Given the description of an element on the screen output the (x, y) to click on. 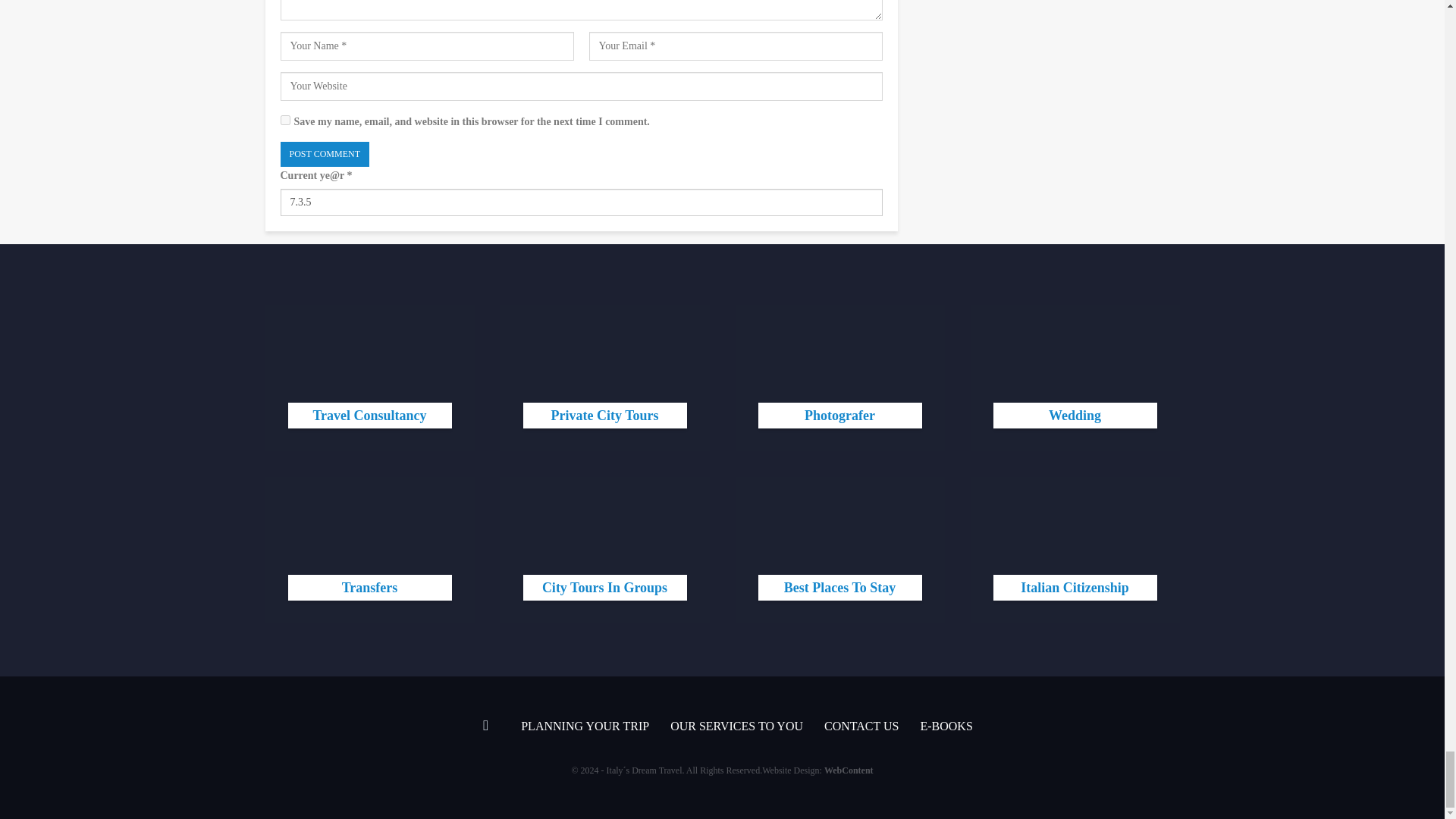
yes (285, 120)
Post Comment (325, 154)
7.3.5 (581, 202)
